Given the description of an element on the screen output the (x, y) to click on. 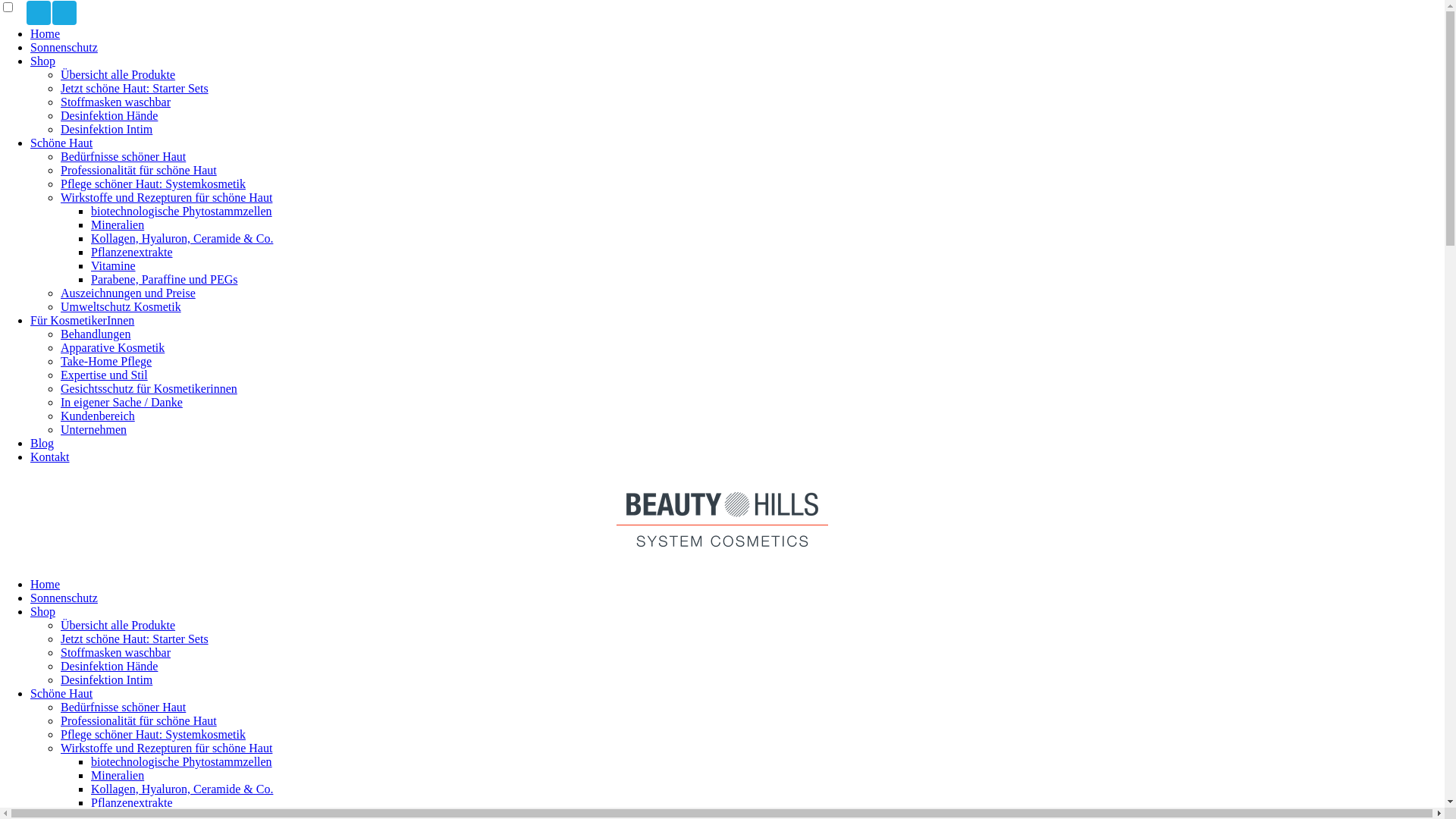
Unternehmen Element type: text (93, 429)
Pflanzenextrakte Element type: text (131, 802)
Pflanzenextrakte Element type: text (131, 251)
Mineralien Element type: text (117, 224)
Umweltschutz Kosmetik Element type: text (120, 306)
Stoffmasken waschbar Element type: text (115, 101)
  Element type: text (38, 12)
Sonnenschutz Element type: text (63, 46)
In eigener Sache / Danke Element type: text (121, 401)
Behandlungen Element type: text (95, 333)
Expertise und Stil Element type: text (103, 374)
Stoffmasken waschbar Element type: text (115, 652)
Home Element type: text (44, 583)
Apparative Kosmetik Element type: text (112, 347)
Mineralien Element type: text (117, 774)
Home Element type: text (44, 33)
Shop Element type: text (42, 611)
Blog Element type: text (41, 442)
  Element type: text (64, 12)
Shop Element type: text (42, 60)
biotechnologische Phytostammzellen Element type: text (181, 210)
Kundenbereich Element type: text (97, 415)
Vitamine Element type: text (113, 265)
Desinfektion Intim Element type: text (106, 128)
biotechnologische Phytostammzellen Element type: text (181, 761)
Parabene, Paraffine und PEGs Element type: text (164, 279)
Desinfektion Intim Element type: text (106, 679)
Sonnenschutz Element type: text (63, 597)
Kollagen, Hyaluron, Ceramide & Co. Element type: text (182, 238)
Take-Home Pflege Element type: text (105, 360)
Kollagen, Hyaluron, Ceramide & Co. Element type: text (182, 788)
Kontakt Element type: text (49, 456)
Auszeichnungen und Preise Element type: text (127, 292)
